Given the description of an element on the screen output the (x, y) to click on. 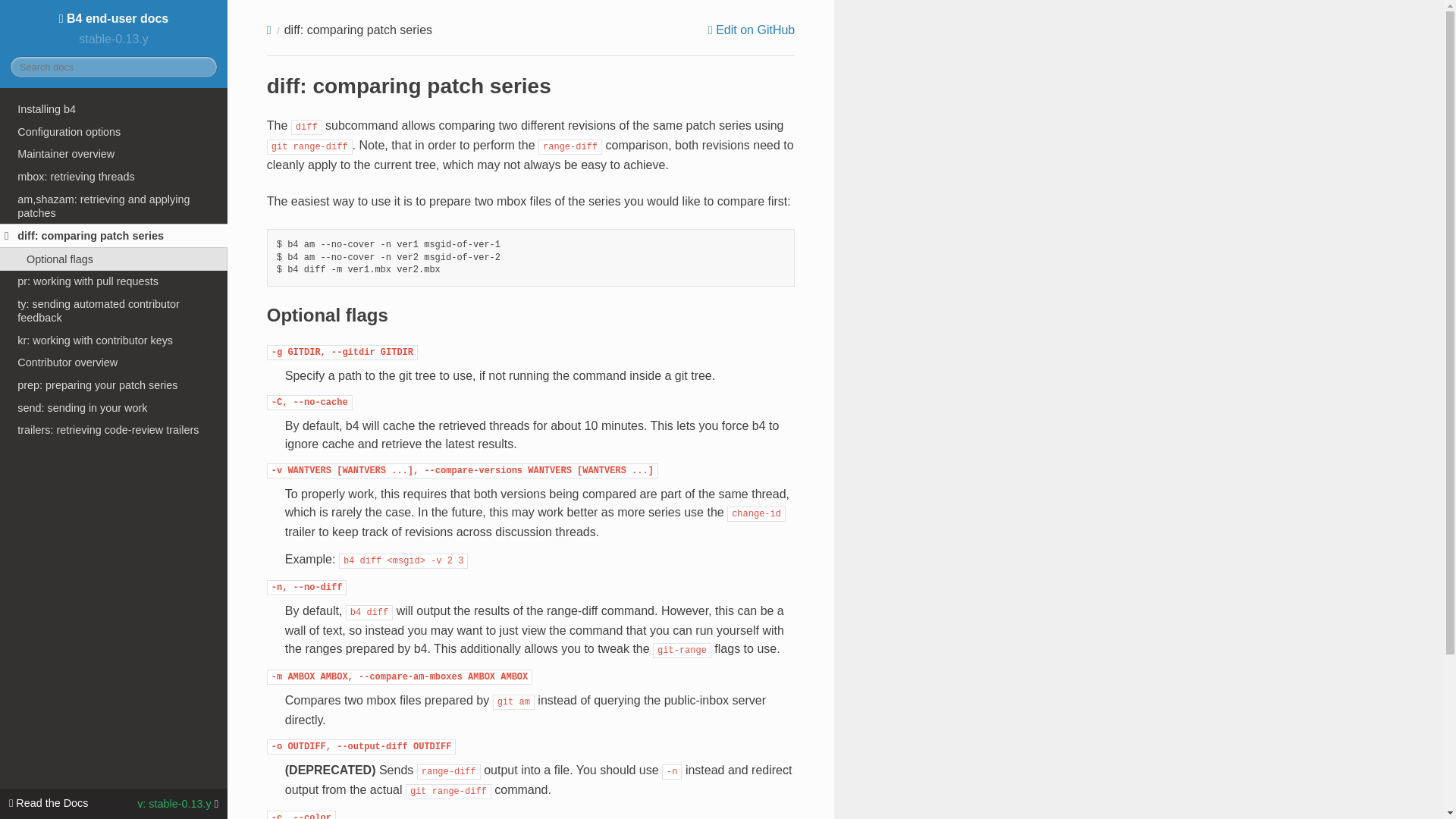
send: sending in your work (113, 407)
pr: working with pull requests (113, 282)
Contributor overview (113, 362)
Optional flags (113, 259)
Installing b4 (113, 108)
am,shazam: retrieving and applying patches (113, 206)
trailers: retrieving code-review trailers (113, 429)
ty: sending automated contributor feedback (113, 310)
prep: preparing your patch series (113, 384)
B4 end-user docs (114, 18)
diff: comparing patch series (113, 235)
Edit on GitHub (750, 30)
Configuration options (113, 131)
Maintainer overview (113, 153)
kr: working with contributor keys (113, 340)
